Given the description of an element on the screen output the (x, y) to click on. 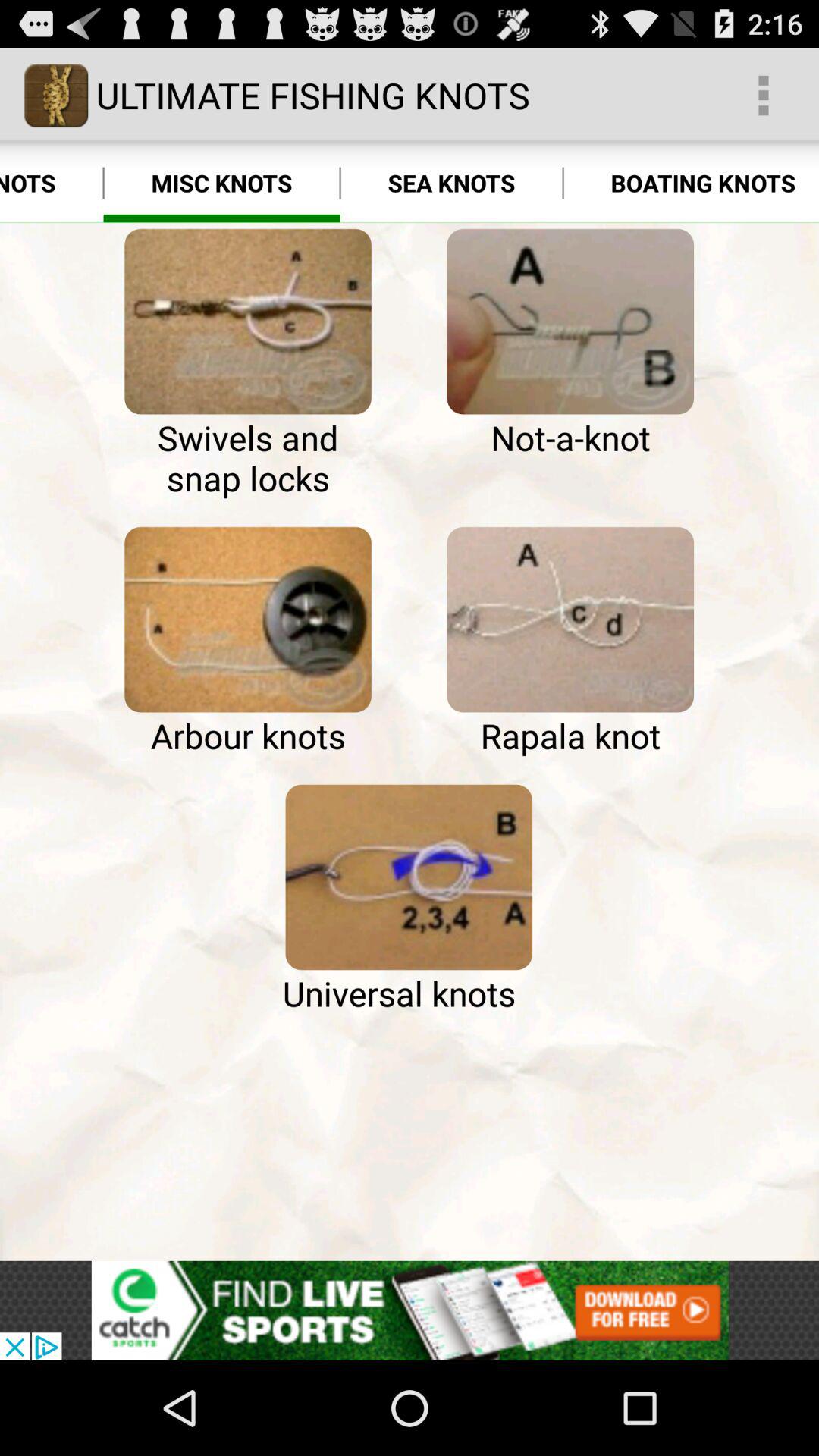
jump to sea knots item (451, 182)
